Given the description of an element on the screen output the (x, y) to click on. 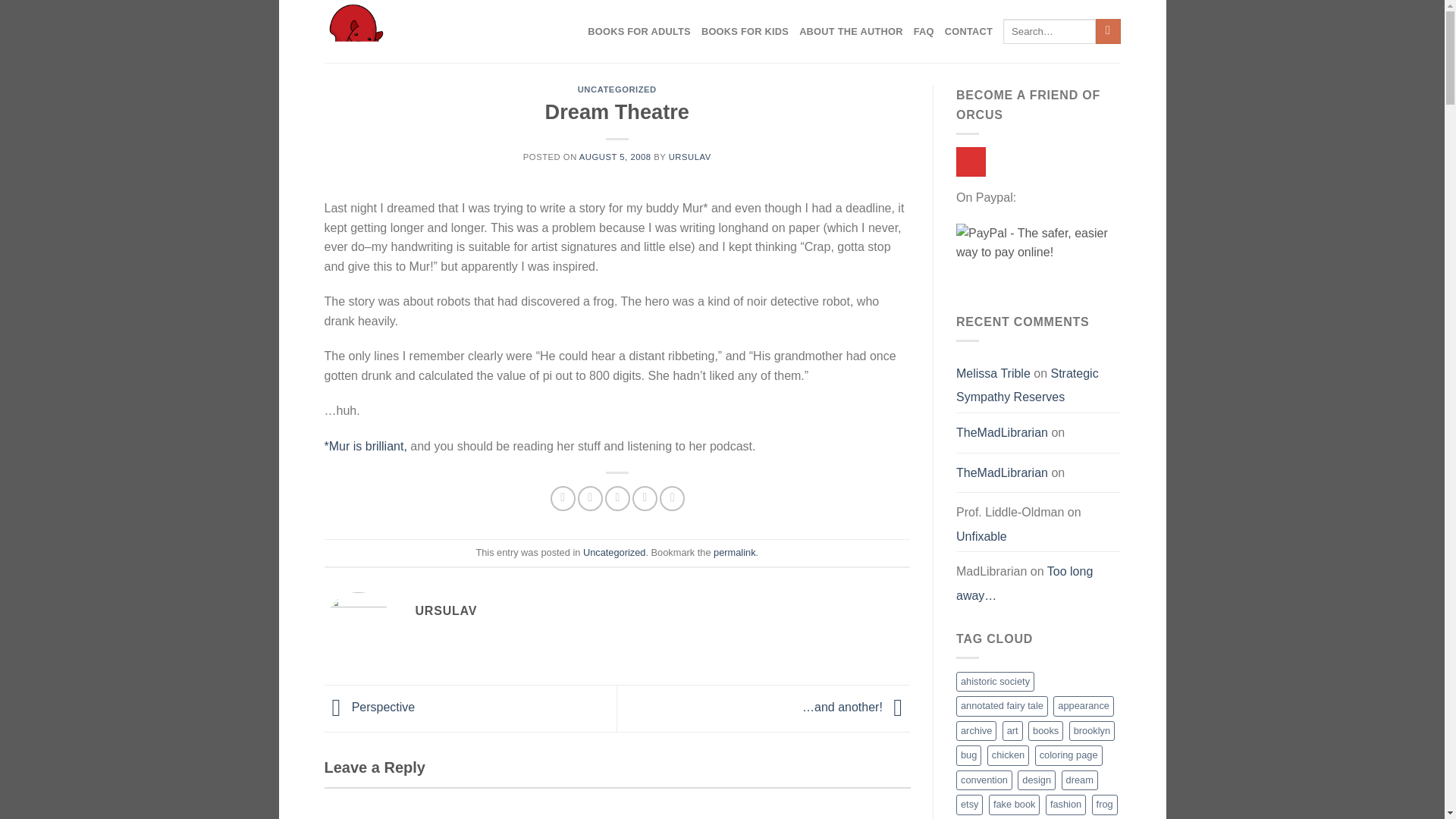
BOOKS FOR ADULTS (639, 31)
Uncategorized (614, 552)
Share on LinkedIn (671, 498)
AUGUST 5, 2008 (614, 156)
permalink (734, 552)
Perspective (369, 707)
Email to a Friend (617, 498)
UNCATEGORIZED (617, 89)
Pin on Pinterest (644, 498)
Share on Twitter (590, 498)
